Given the description of an element on the screen output the (x, y) to click on. 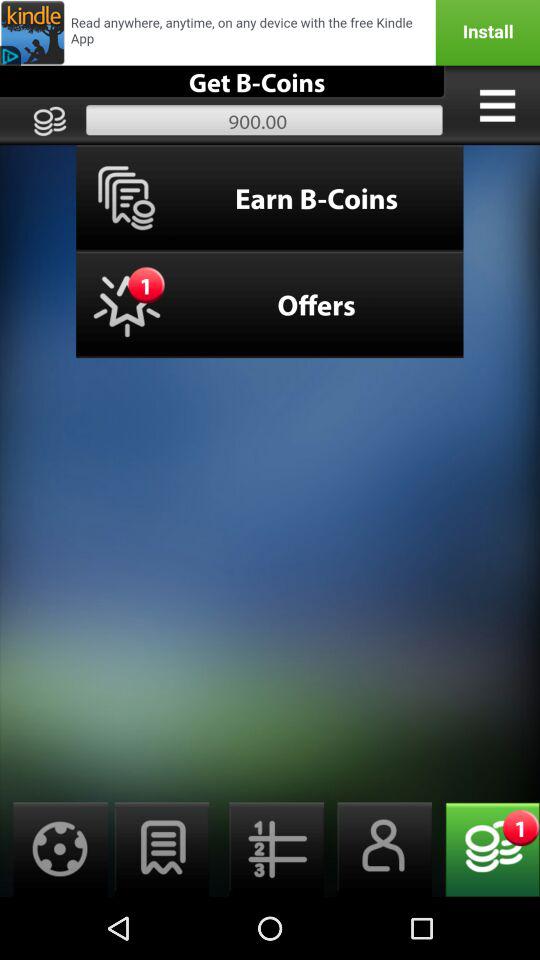
earn b-coins (270, 32)
